Given the description of an element on the screen output the (x, y) to click on. 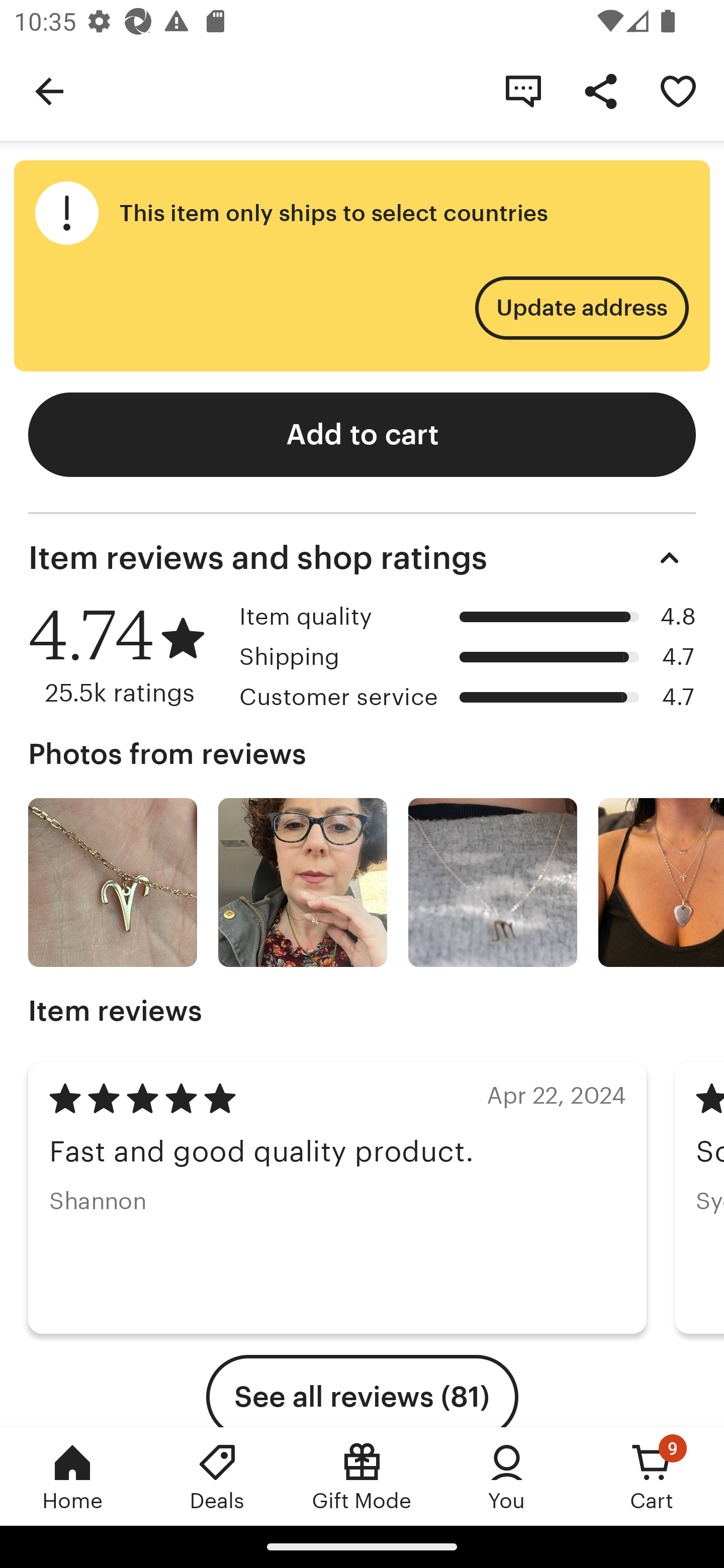
Navigate up (49, 90)
Contact shop (523, 90)
Share (600, 90)
Update address (581, 307)
Add to cart (361, 434)
Item reviews and shop ratings (362, 557)
4.74 25.5k ratings (126, 655)
Photo from review (112, 882)
Photo from review (302, 882)
Photo from review (492, 882)
Photo from review (661, 882)
See all reviews (81) (362, 1390)
Deals (216, 1475)
Gift Mode (361, 1475)
You (506, 1475)
Cart, 9 new notifications Cart (651, 1475)
